Given the description of an element on the screen output the (x, y) to click on. 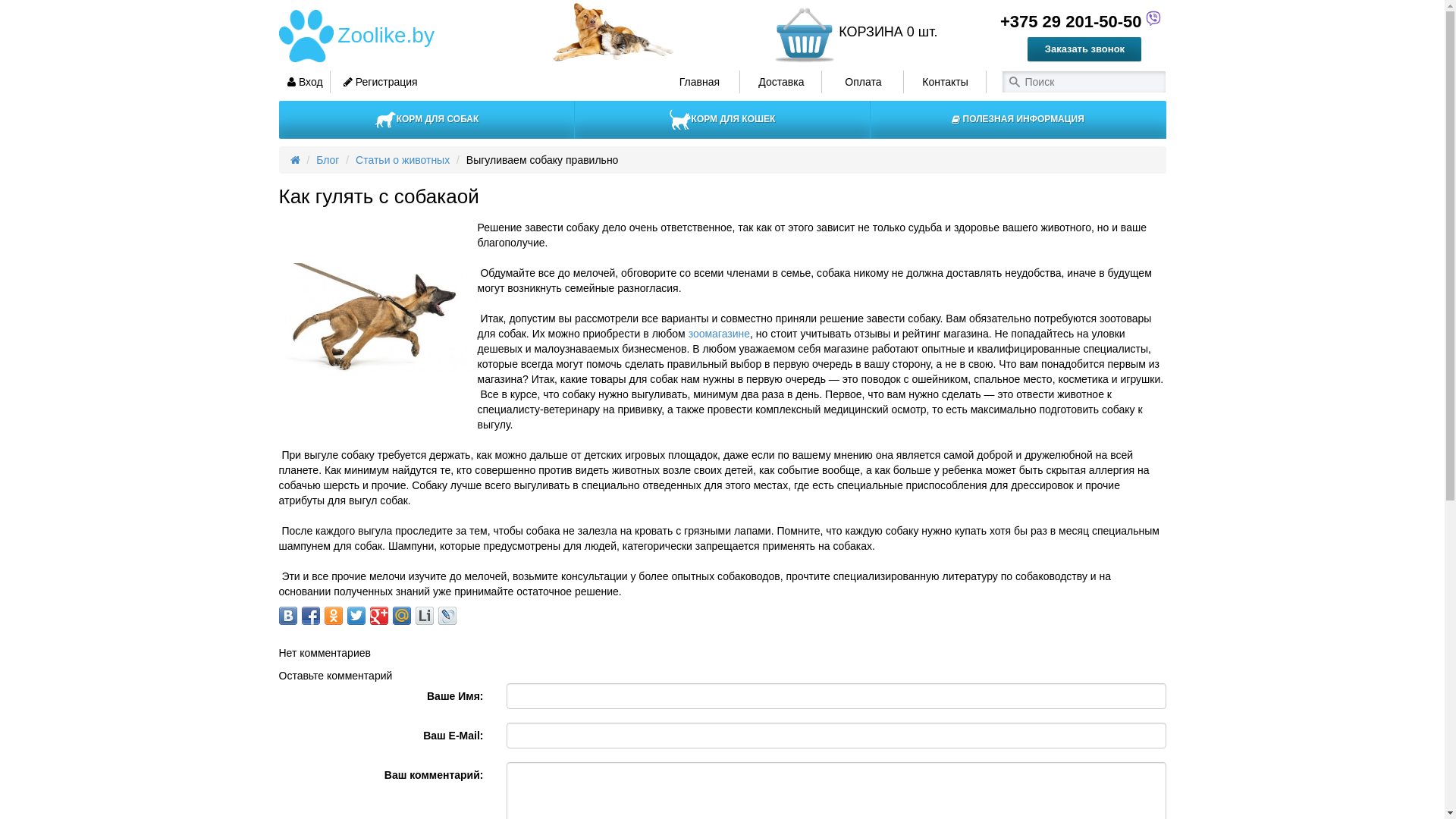
+375 29 201-50-50 Element type: text (1066, 20)
Zoolike.by Element type: text (383, 35)
